Given the description of an element on the screen output the (x, y) to click on. 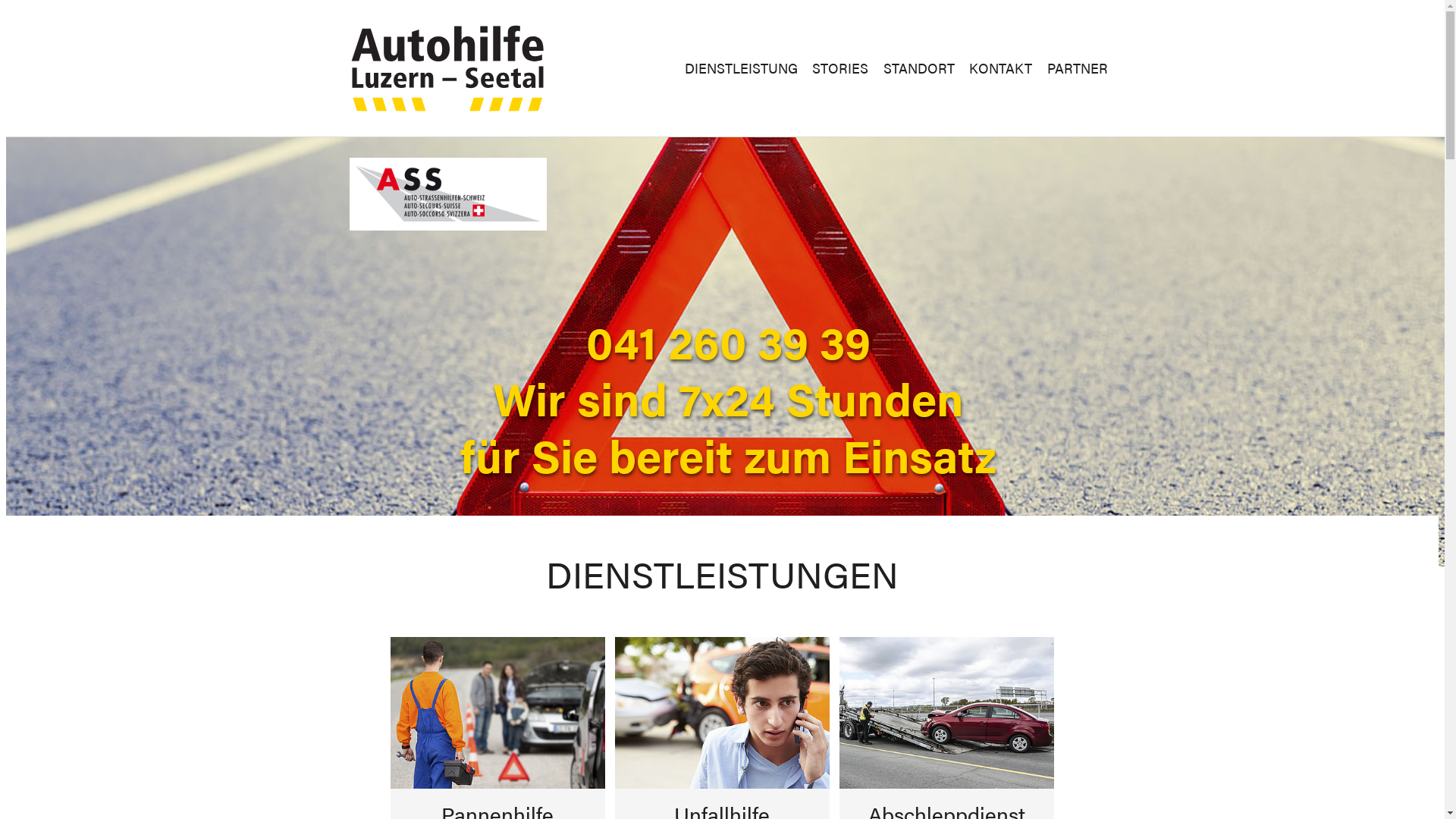
KONTAKT Element type: text (993, 67)
STANDORT Element type: text (910, 67)
041 260 39 39 Element type: text (728, 340)
Link zur ASS Website Element type: hover (446, 193)
STORIES Element type: text (832, 67)
DIENSTLEISTUNG Element type: text (733, 67)
PARTNER Element type: text (1069, 67)
